Given the description of an element on the screen output the (x, y) to click on. 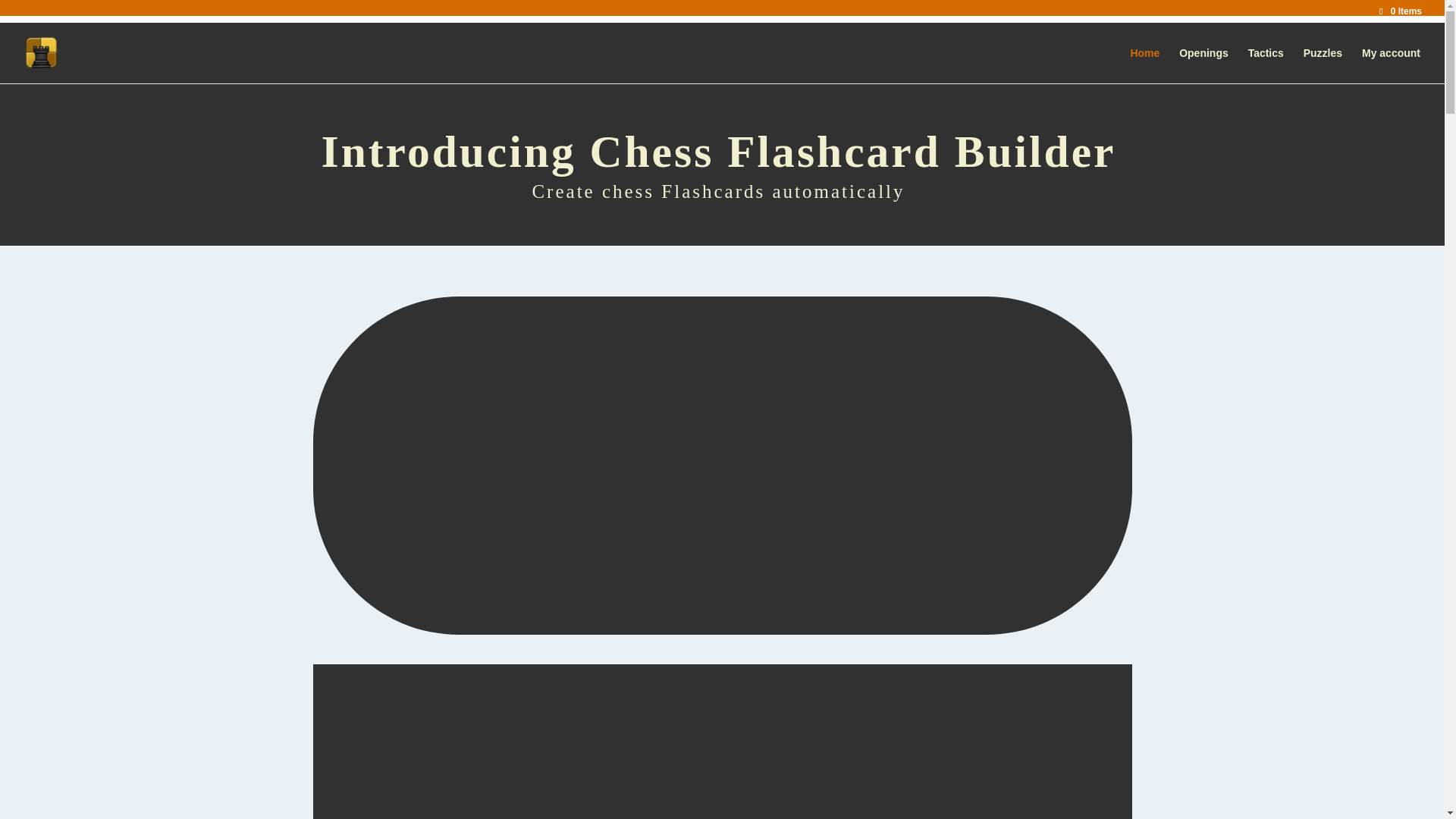
Puzzles (1322, 65)
My account (1391, 65)
0 Items (1399, 10)
Tactics (1265, 65)
Openings (1203, 65)
